Given the description of an element on the screen output the (x, y) to click on. 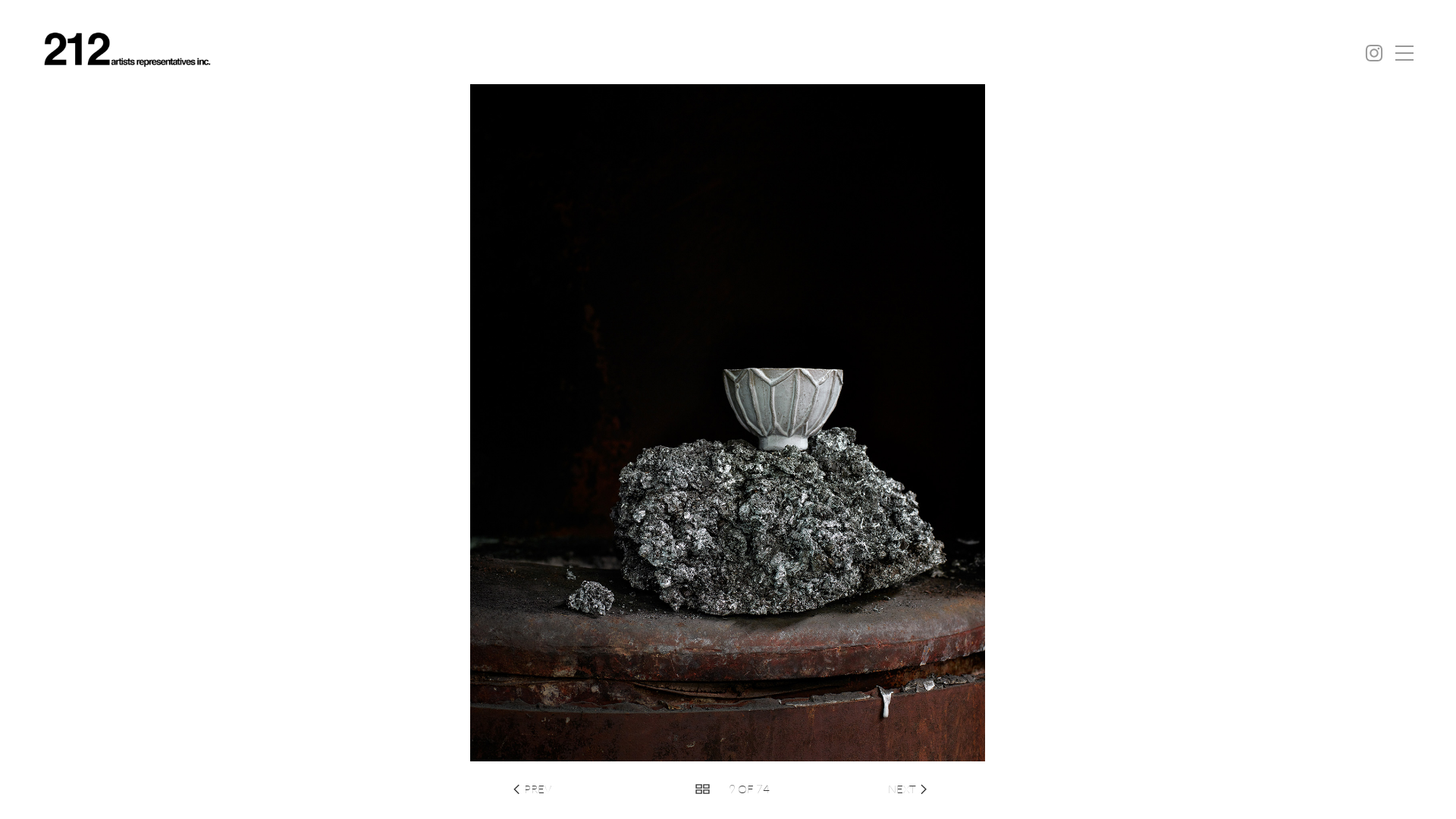
    Element type: text (790, 788)
    Element type: text (672, 788)
9 OF 74 Element type: text (748, 788)
    Element type: text (597, 788)
    Element type: text (572, 788)
PREV Element type: text (537, 788)
    Element type: text (647, 788)
    Element type: text (815, 788)
NEXT Element type: text (902, 788)
    Element type: text (622, 788)
    Element type: text (865, 788)
    Element type: text (840, 788)
